Given the description of an element on the screen output the (x, y) to click on. 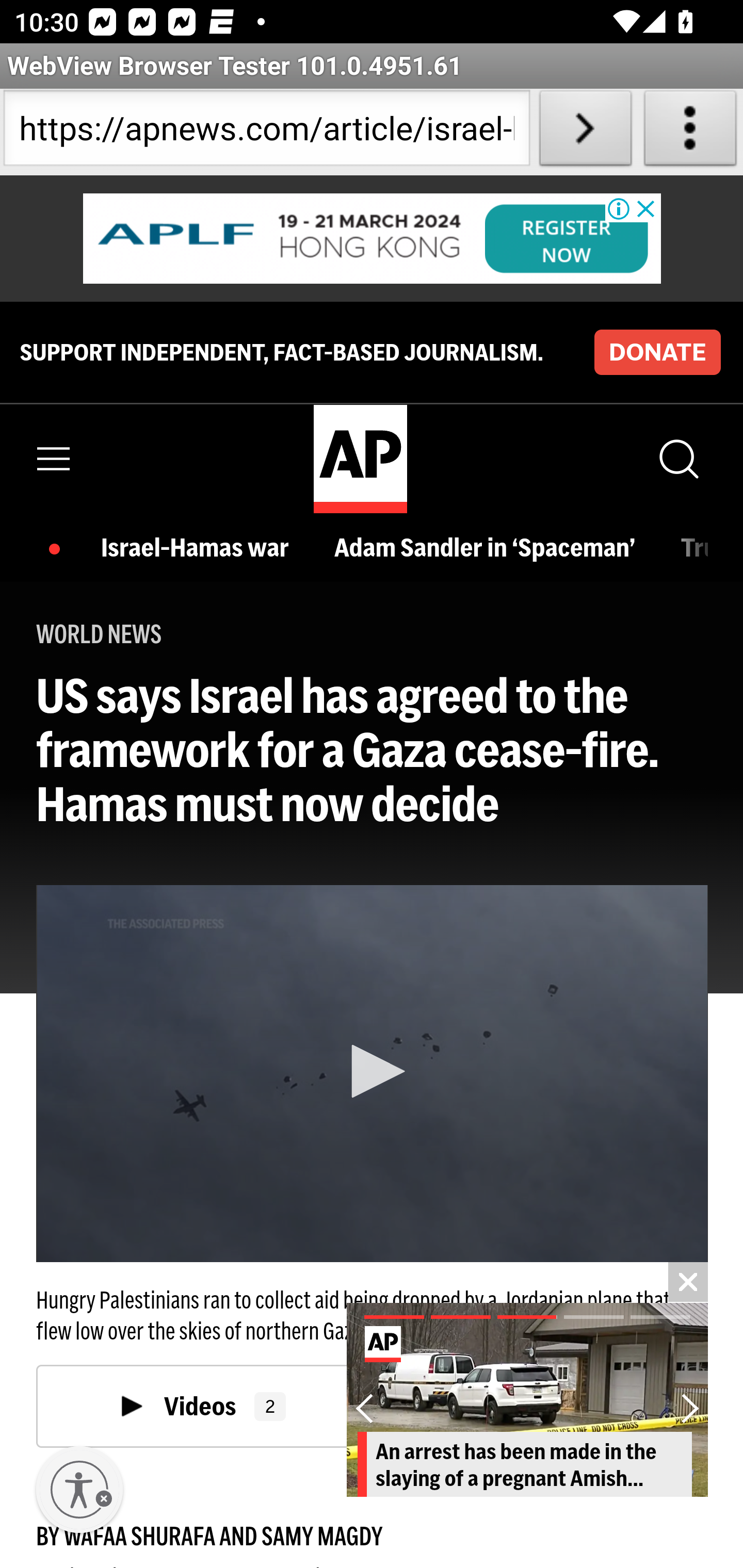
Load URL (585, 132)
About WebView (690, 132)
DONATE (657, 351)
home page AP Logo (359, 458)
Menu (54, 458)
Show Search (677, 458)
Israel-Hamas war (200, 548)
Adam Sandler in ‘Spaceman’ (489, 548)
WORLD NEWS (99, 634)
Play (372, 1071)
Enable accessibility (79, 1490)
